Given the description of an element on the screen output the (x, y) to click on. 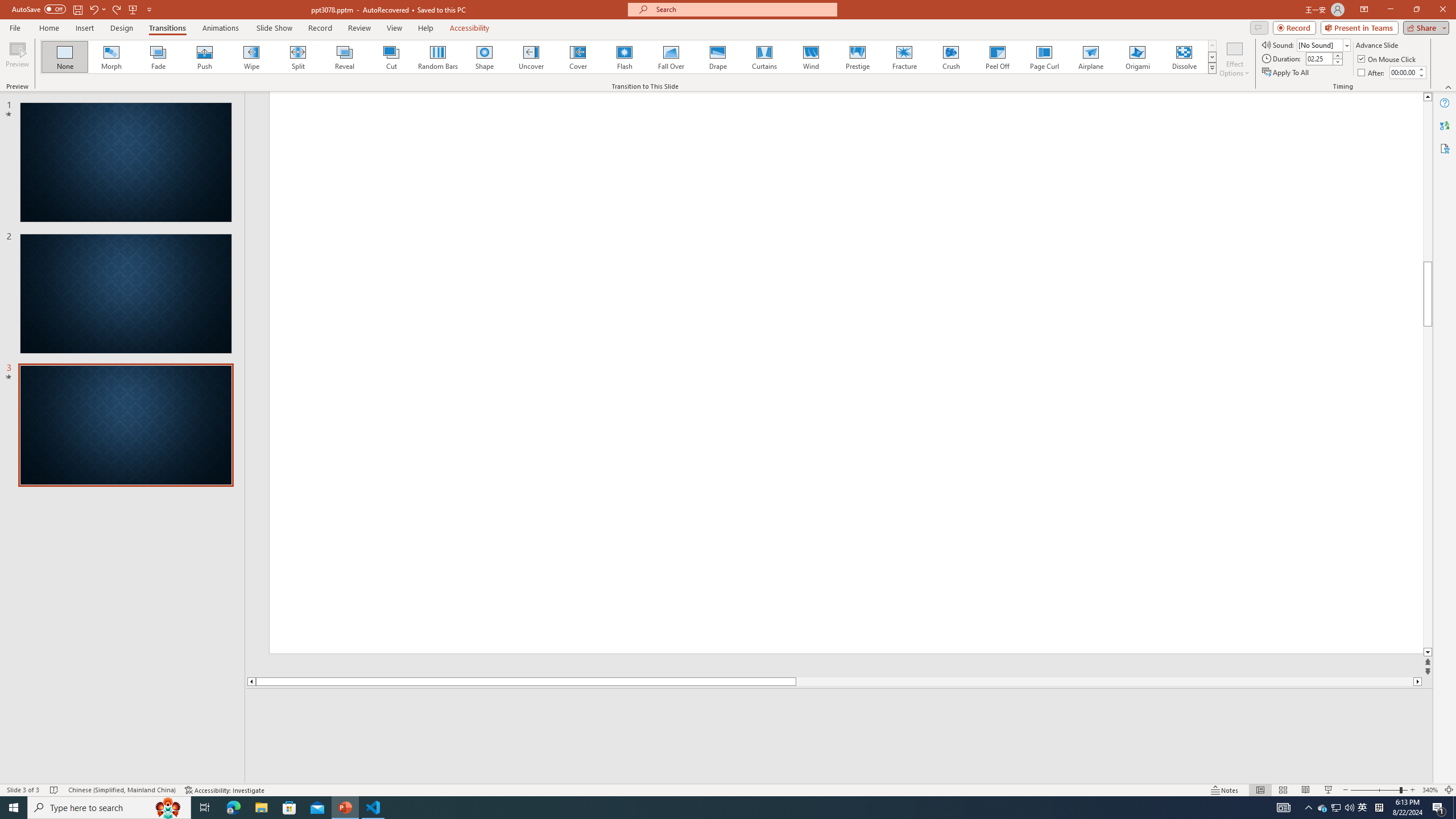
Prestige (857, 56)
After (1372, 72)
Reveal (344, 56)
Wipe (251, 56)
Zoom 340% (1430, 790)
Airplane (1090, 56)
Transition Effects (1212, 67)
